Given the description of an element on the screen output the (x, y) to click on. 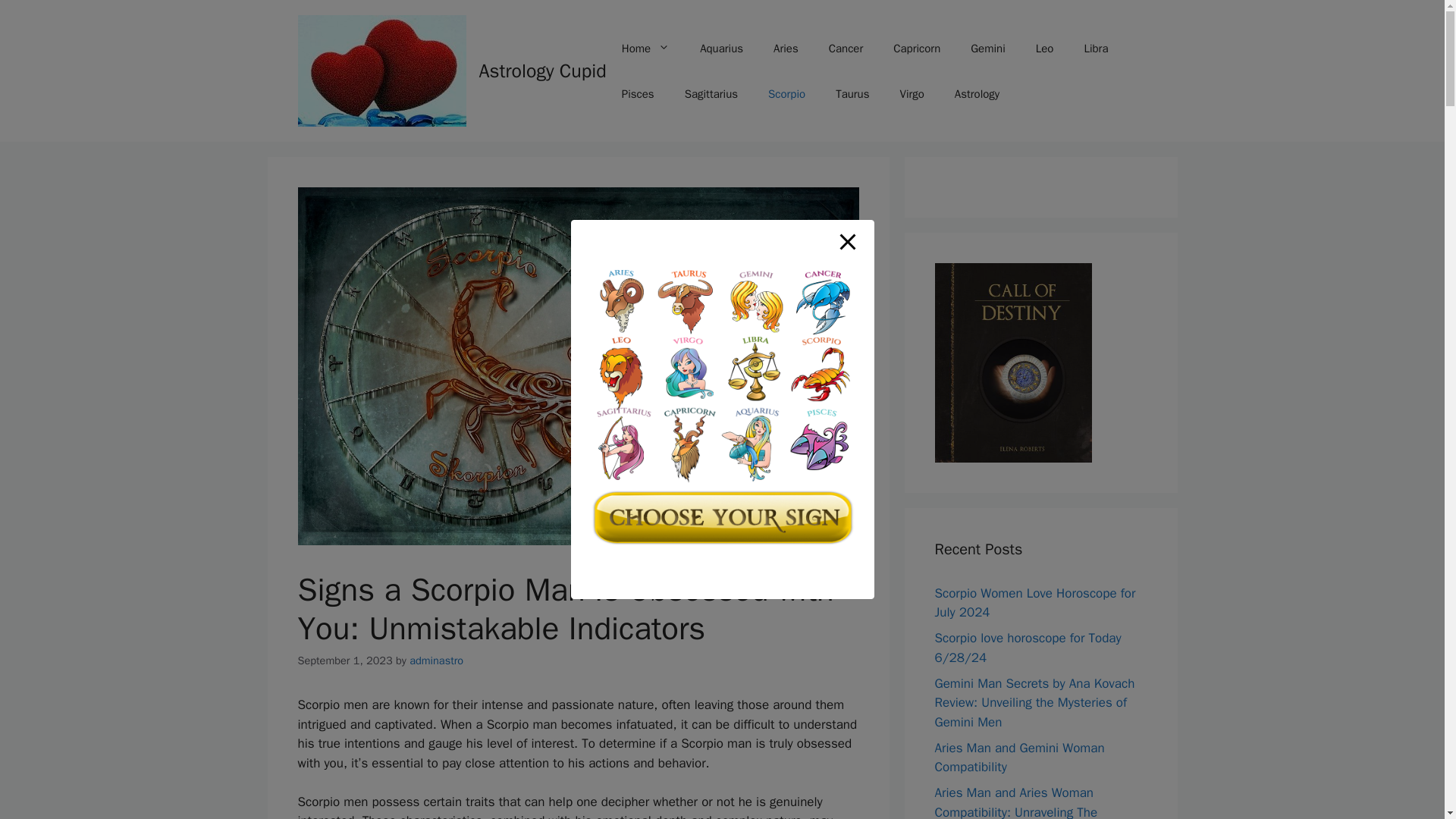
Astrology Cupid (543, 70)
Scorpio Women Love Horoscope for July 2024 (1034, 602)
Aries (785, 48)
Cancer (846, 48)
Taurus (852, 94)
View all posts by adminastro (436, 660)
Aries Man and Gemini Woman Compatibility (1018, 757)
Gemini (987, 48)
Libra (1095, 48)
Leo (1044, 48)
